Given the description of an element on the screen output the (x, y) to click on. 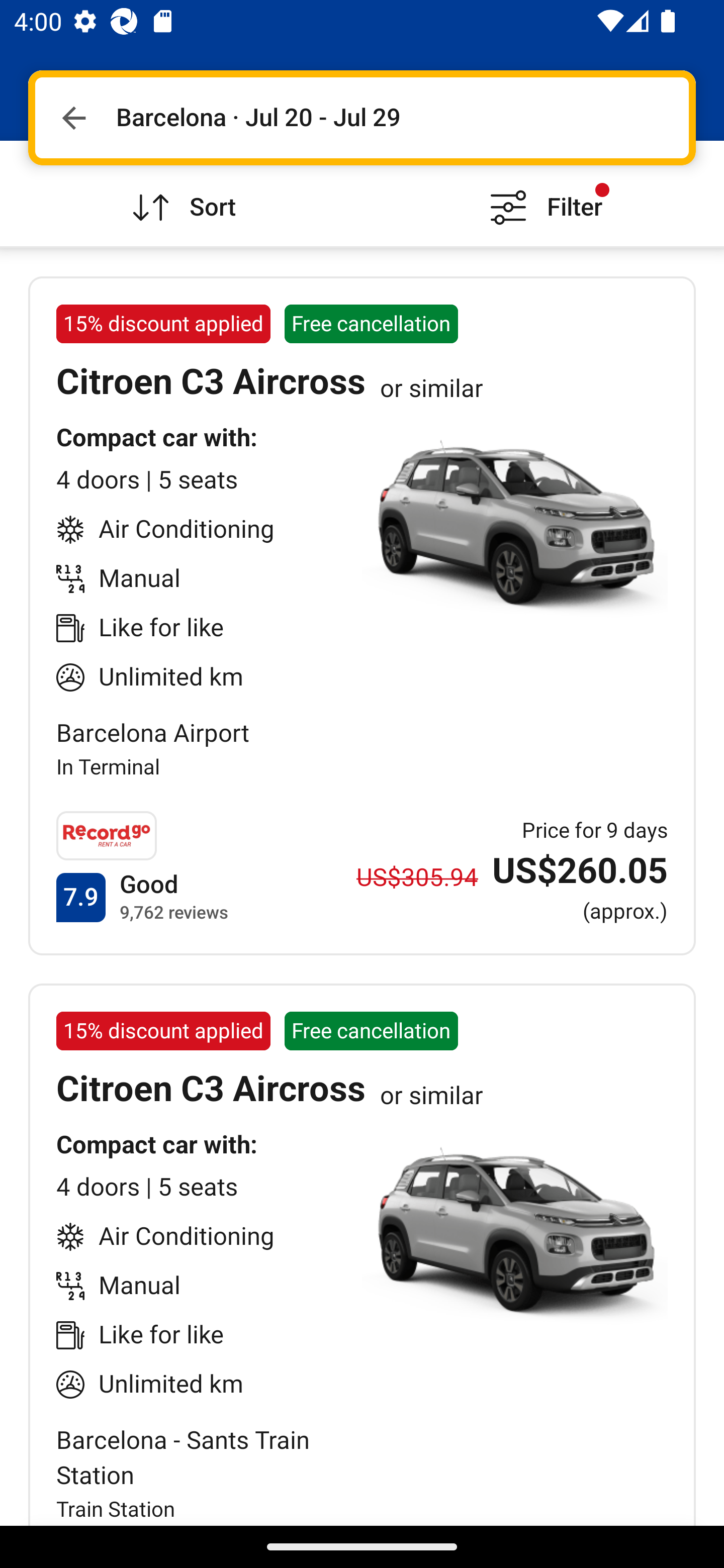
Back to previous screen (73, 117)
Sort (181, 193)
Filter (543, 193)
